Given the description of an element on the screen output the (x, y) to click on. 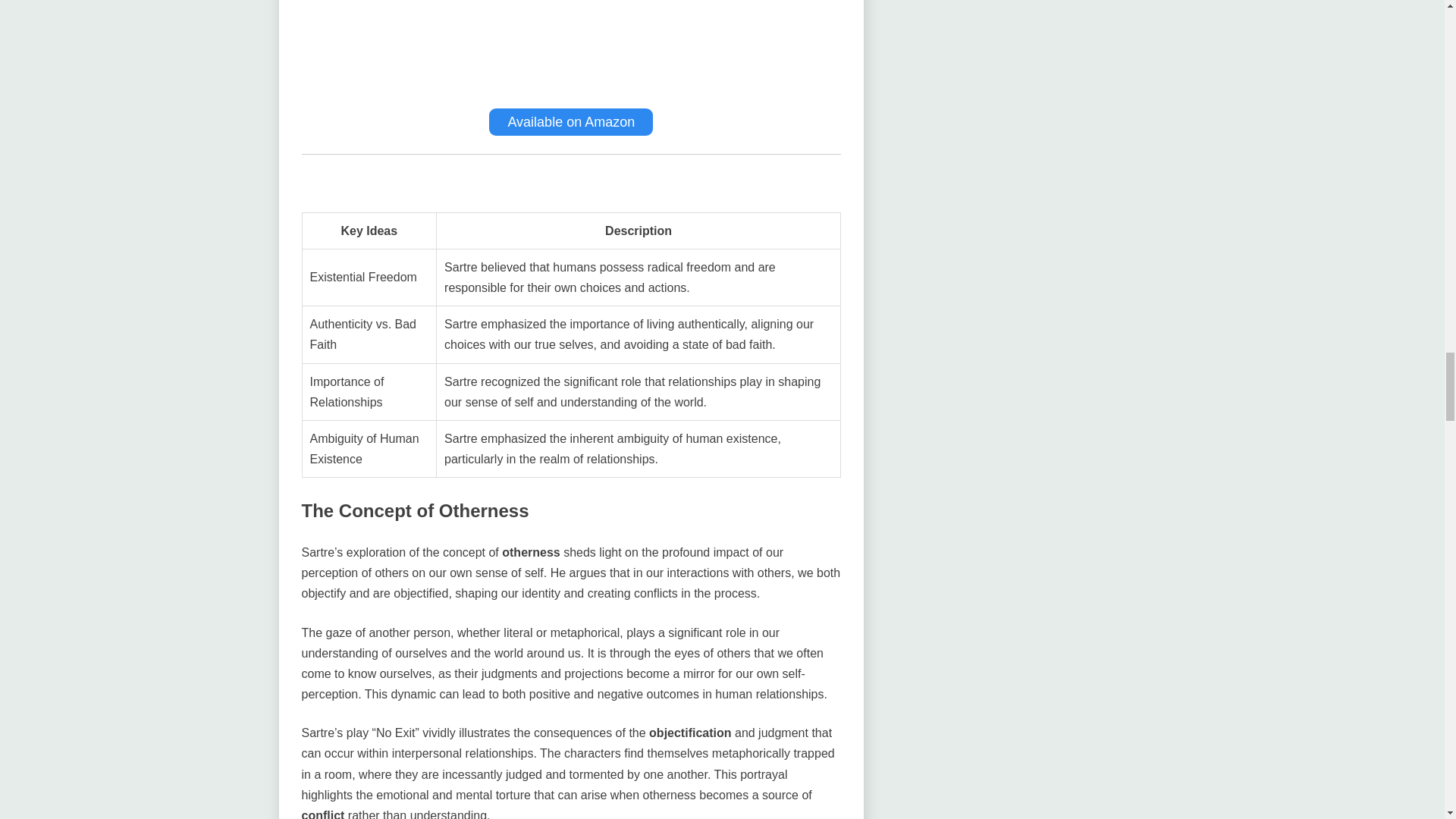
Available on Amazon (570, 121)
